Given the description of an element on the screen output the (x, y) to click on. 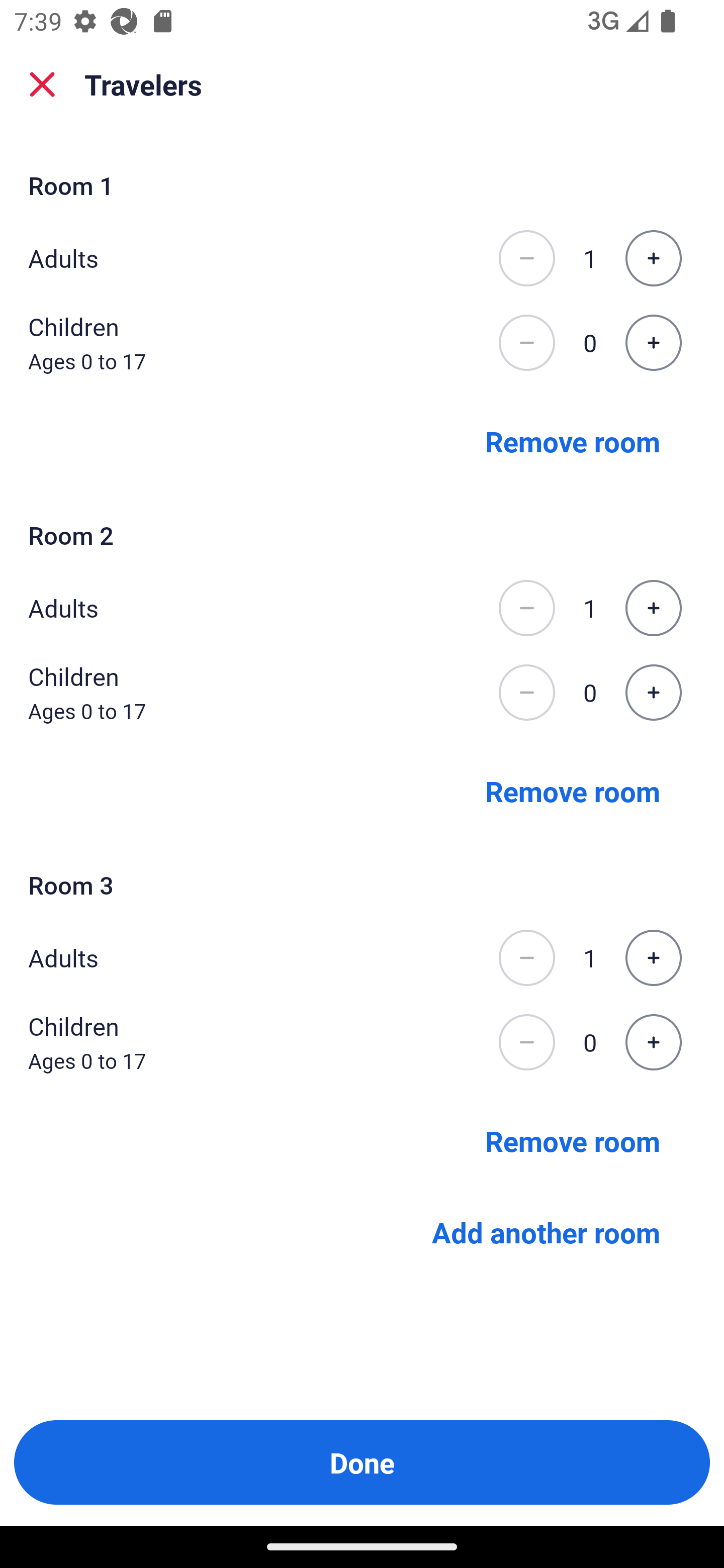
close (42, 84)
Decrease the number of adults (526, 258)
Increase the number of adults (653, 258)
Decrease the number of children (526, 343)
Increase the number of children (653, 343)
Remove room (572, 440)
Decrease the number of adults (526, 608)
Increase the number of adults (653, 608)
Decrease the number of children (526, 692)
Increase the number of children (653, 692)
Remove room (572, 790)
Decrease the number of adults (526, 957)
Increase the number of adults (653, 957)
Decrease the number of children (526, 1042)
Increase the number of children (653, 1042)
Remove room (572, 1140)
Add another room (545, 1232)
Done (361, 1462)
